Given the description of an element on the screen output the (x, y) to click on. 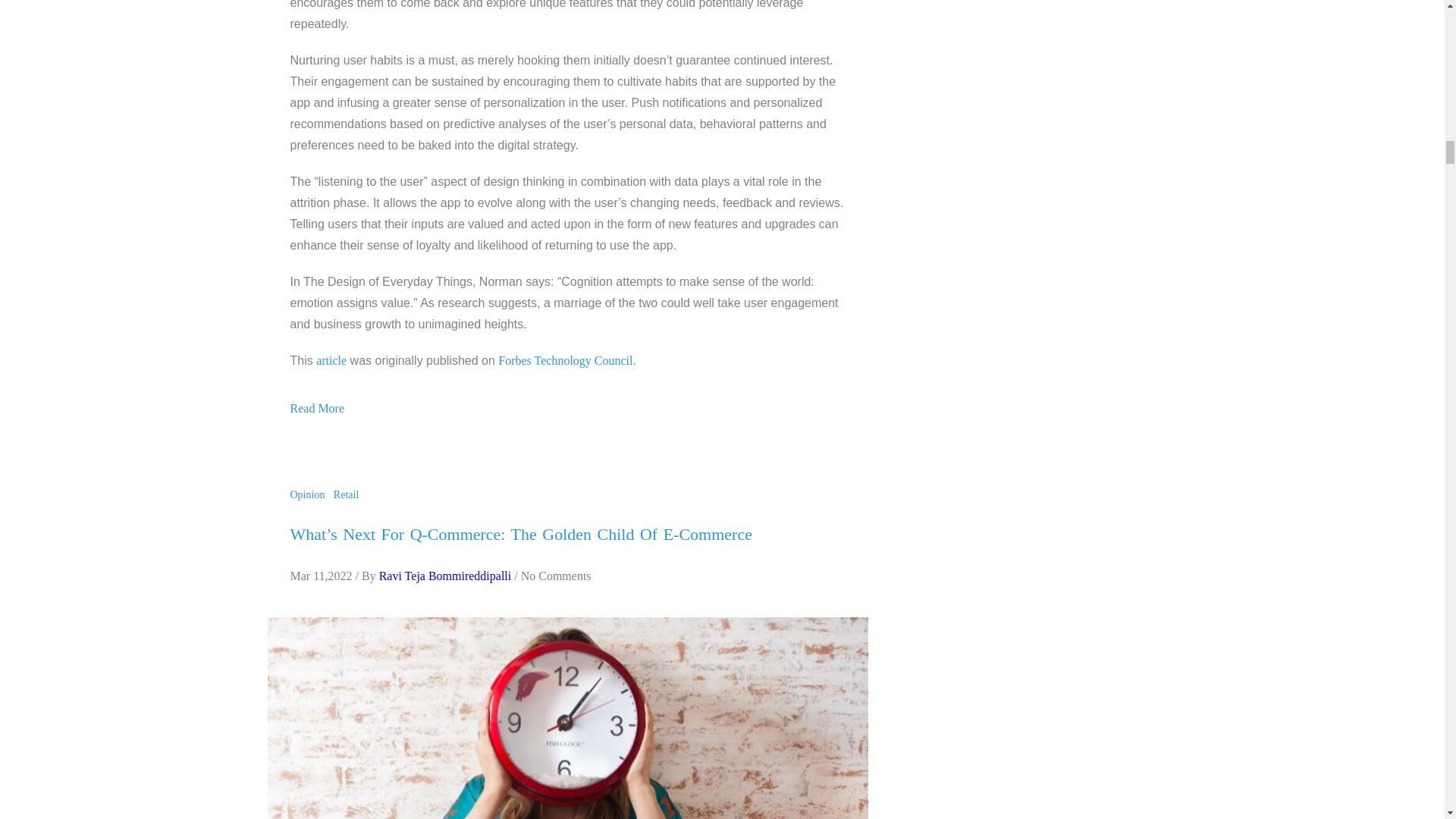
article (330, 359)
Retail (348, 494)
Ravi Teja Bommireddipalli (445, 575)
Posts by Ravi Teja Bommireddipalli (445, 575)
Read More (316, 408)
Opinion (309, 494)
Forbes Technology Council (564, 359)
